Given the description of an element on the screen output the (x, y) to click on. 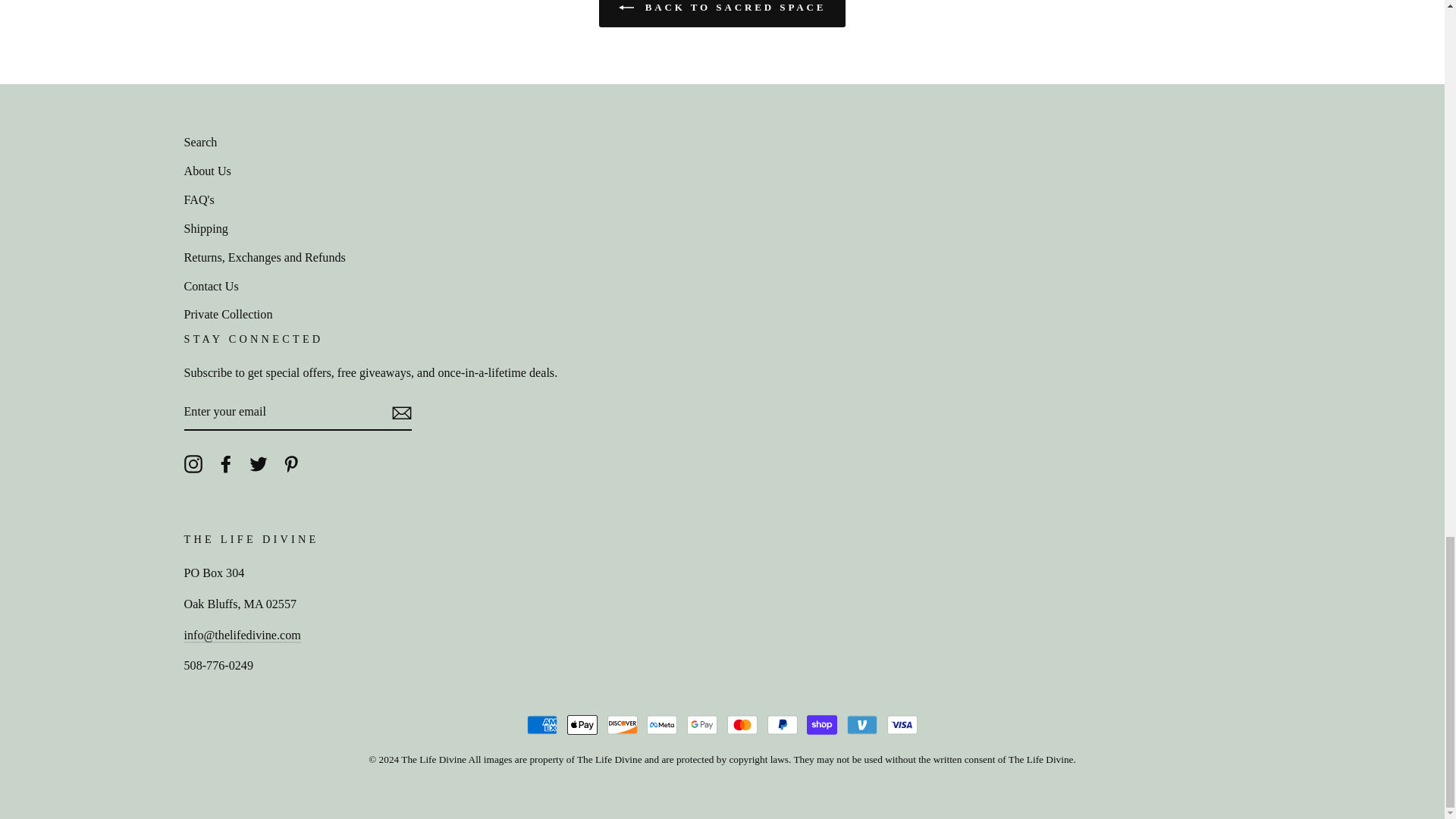
The Life Divine on Pinterest (290, 463)
Contact Us (241, 635)
The Life Divine on Instagram (192, 463)
The Life Divine on Facebook (225, 463)
American Express (542, 725)
The Life Divine on Twitter (257, 463)
